Given the description of an element on the screen output the (x, y) to click on. 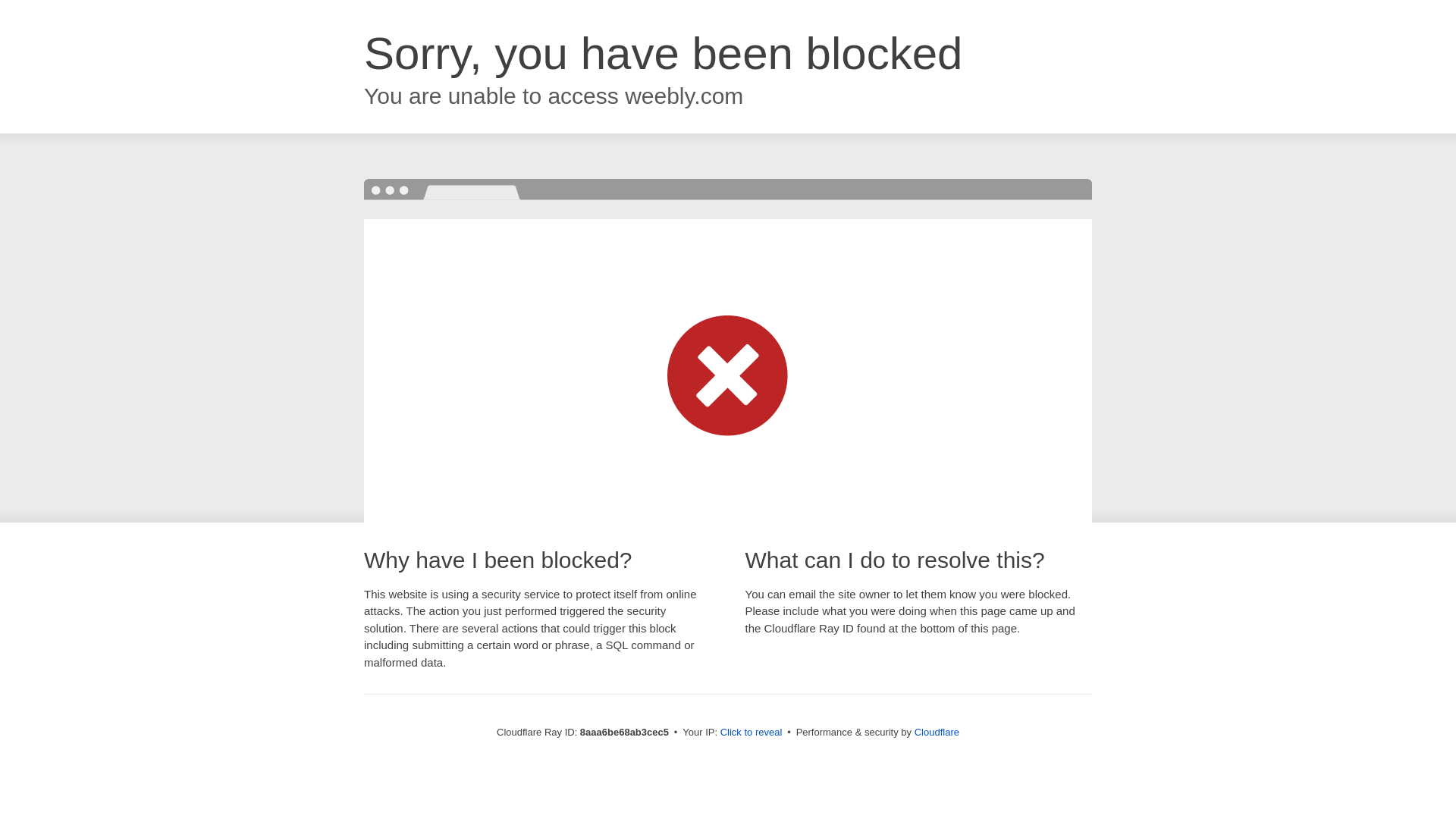
Cloudflare (936, 731)
Click to reveal (751, 732)
